Given the description of an element on the screen output the (x, y) to click on. 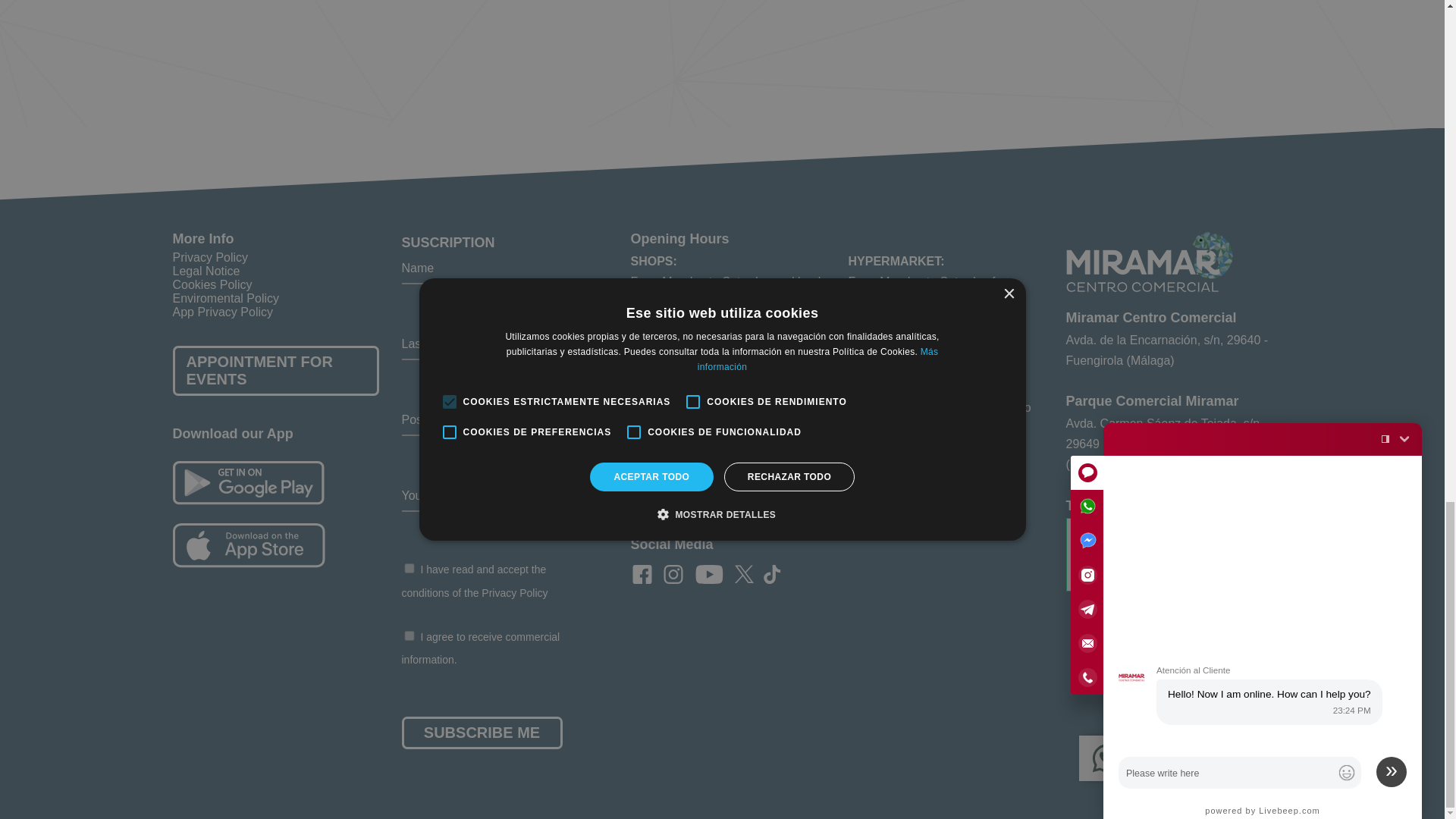
1 (408, 635)
Subscribe me (481, 732)
1 (408, 568)
